Given the description of an element on the screen output the (x, y) to click on. 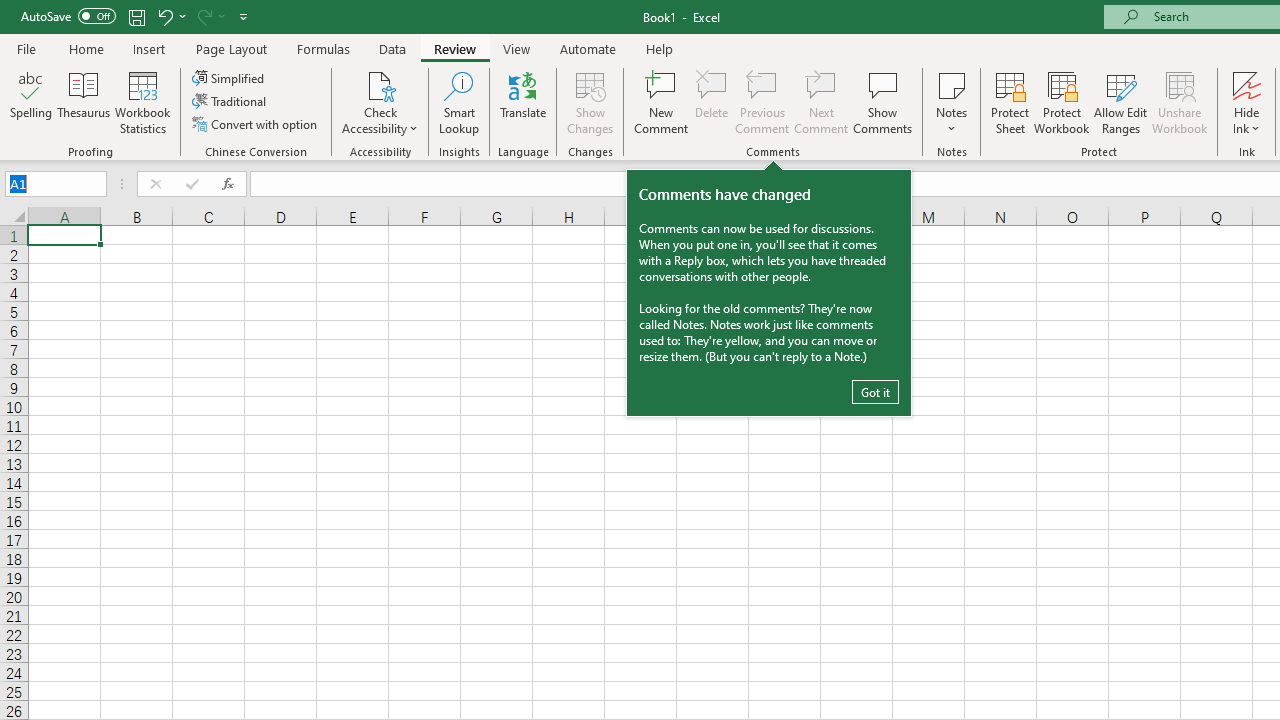
Notes (951, 102)
Smart Lookup (459, 102)
Thesaurus... (83, 102)
Protect Workbook... (1061, 102)
Spelling... (31, 102)
Translate (523, 102)
Simplified (230, 78)
Check Accessibility (380, 84)
